Given the description of an element on the screen output the (x, y) to click on. 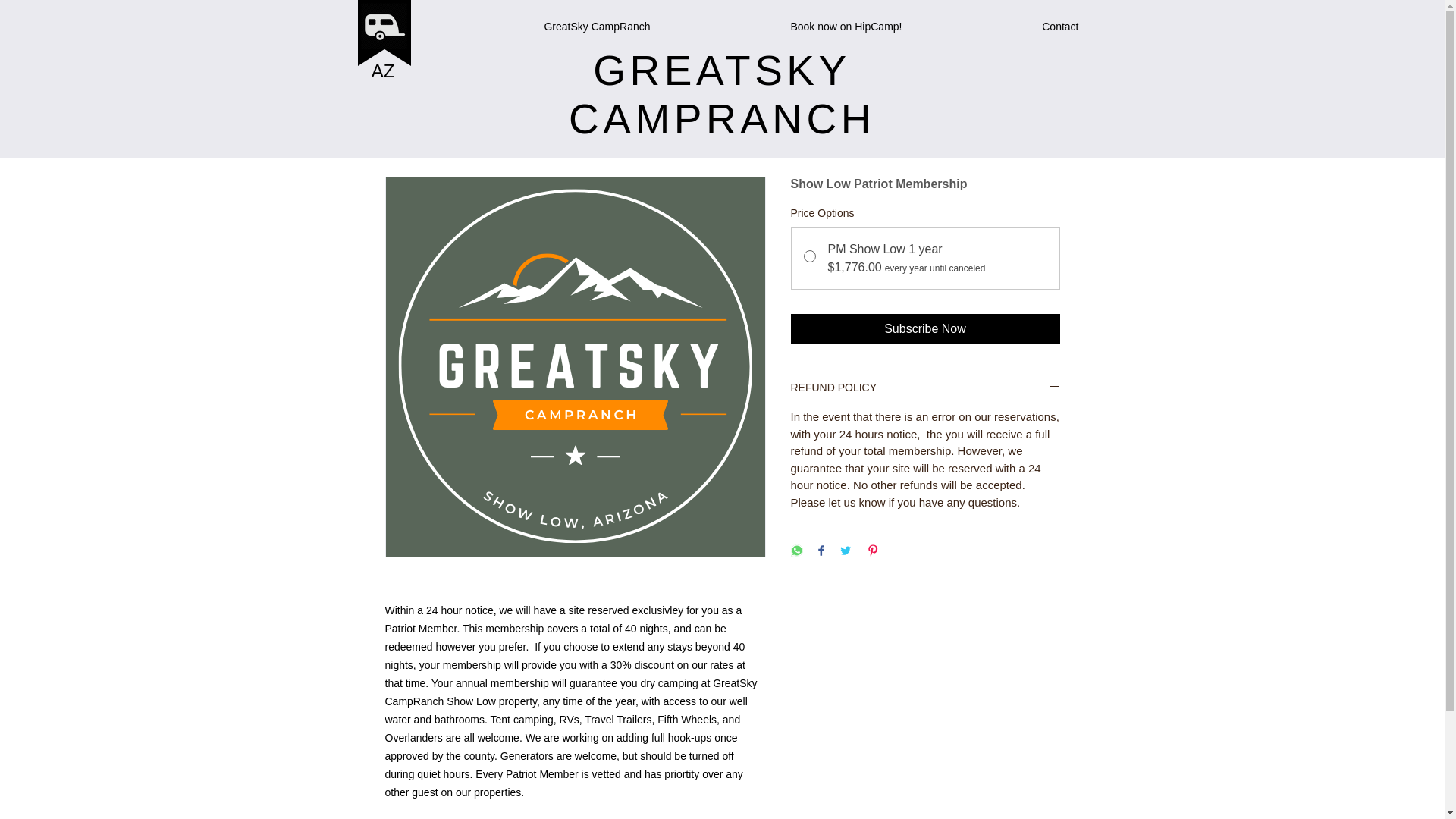
REFUND POLICY (924, 388)
Subscribe Now (924, 328)
GreatSky CampRanch (538, 26)
AZ (382, 70)
Contact (1000, 26)
Book now on HipCamp! (786, 26)
